Given the description of an element on the screen output the (x, y) to click on. 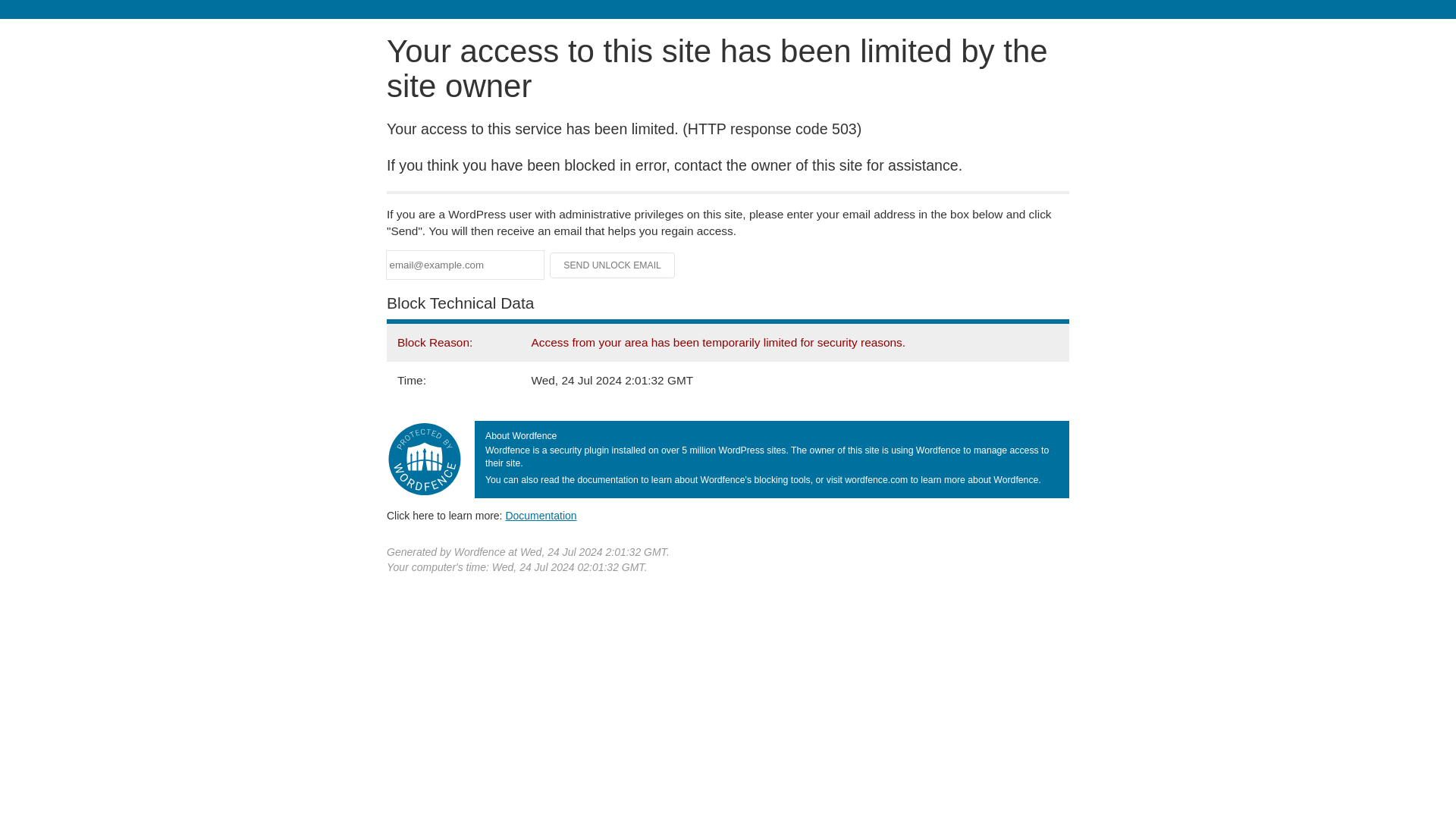
Send Unlock Email (612, 265)
Send Unlock Email (612, 265)
Documentation (540, 515)
